Given the description of an element on the screen output the (x, y) to click on. 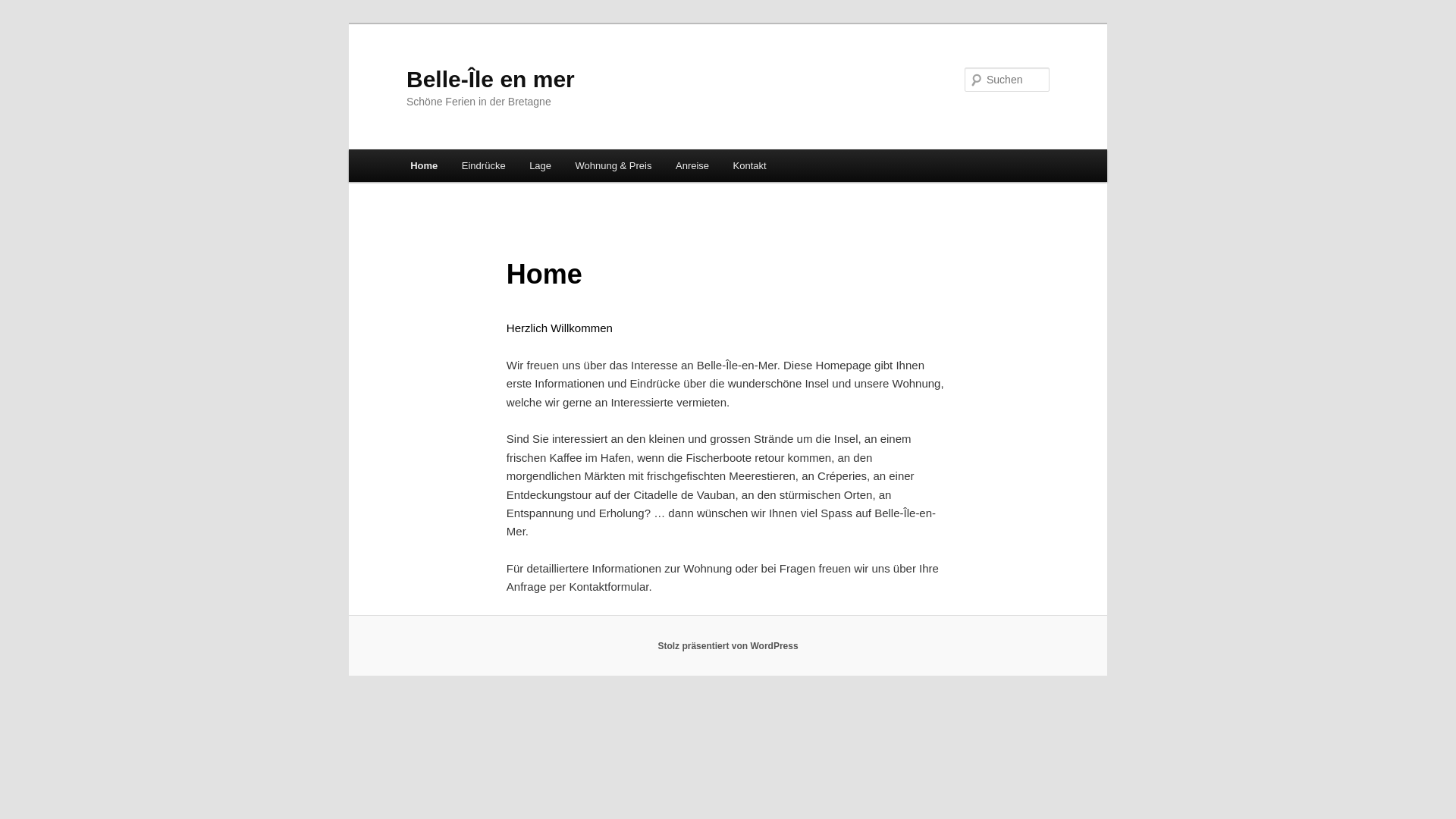
Suchen Element type: text (25, 8)
Zum Inhalt wechseln Element type: text (22, 22)
Kontakt Element type: text (749, 165)
Lage Element type: text (539, 165)
Wohnung & Preis Element type: text (613, 165)
Anreise Element type: text (692, 165)
Home Element type: text (423, 165)
